Given the description of an element on the screen output the (x, y) to click on. 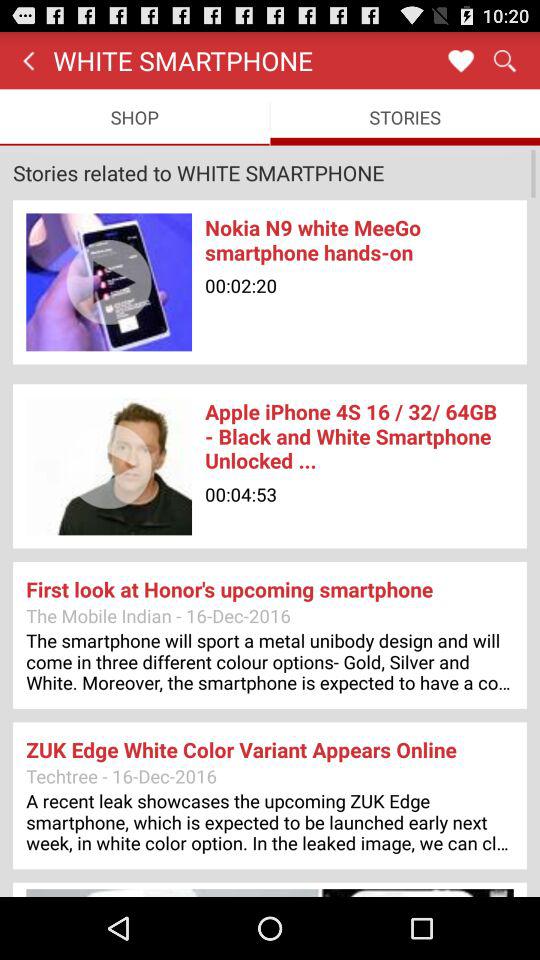
seach (504, 60)
